Given the description of an element on the screen output the (x, y) to click on. 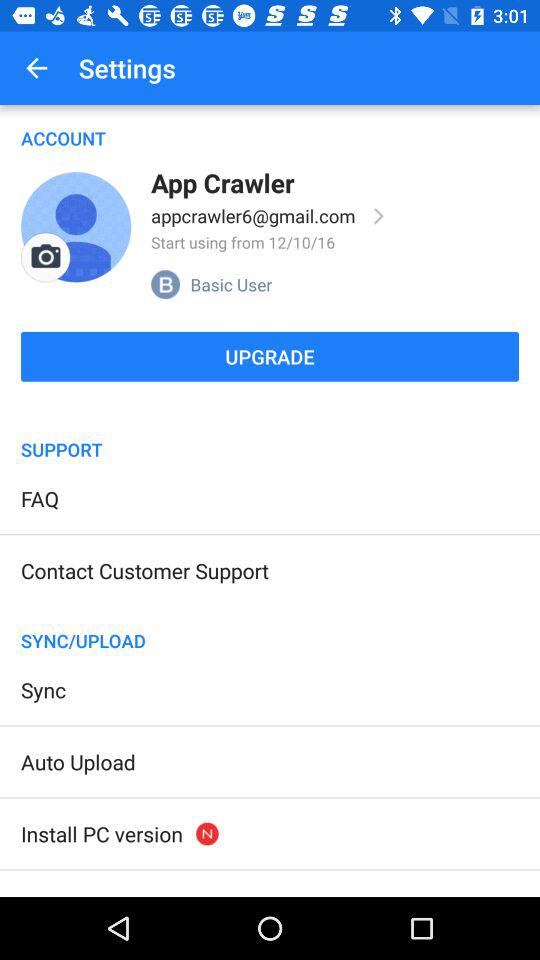
select the item below faq (144, 570)
